Given the description of an element on the screen output the (x, y) to click on. 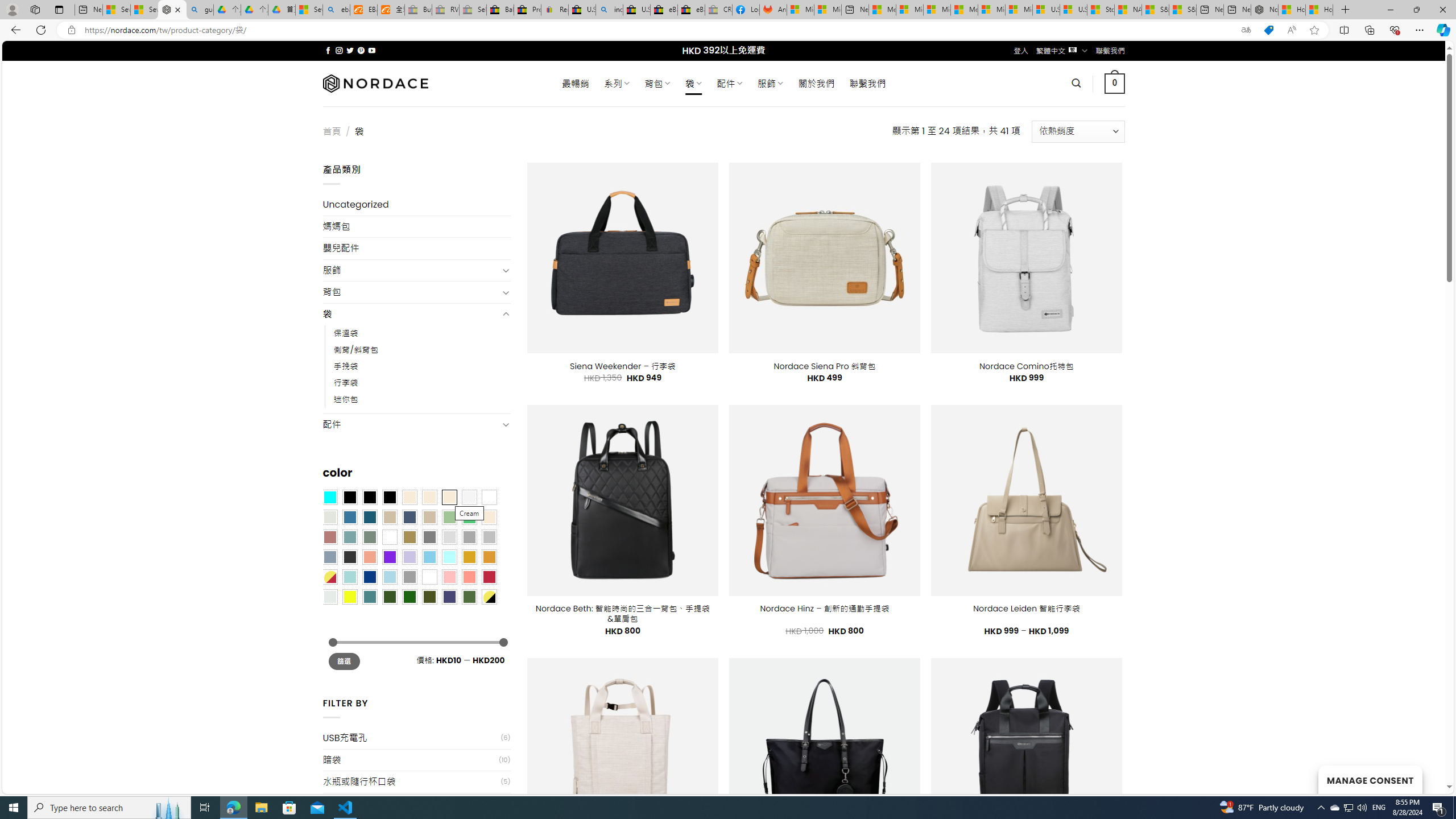
How to Use a Monitor With Your Closed Laptop (1319, 9)
U.S. State Privacy Disclosures - eBay Inc. (636, 9)
  0   (1115, 83)
